Given the description of an element on the screen output the (x, y) to click on. 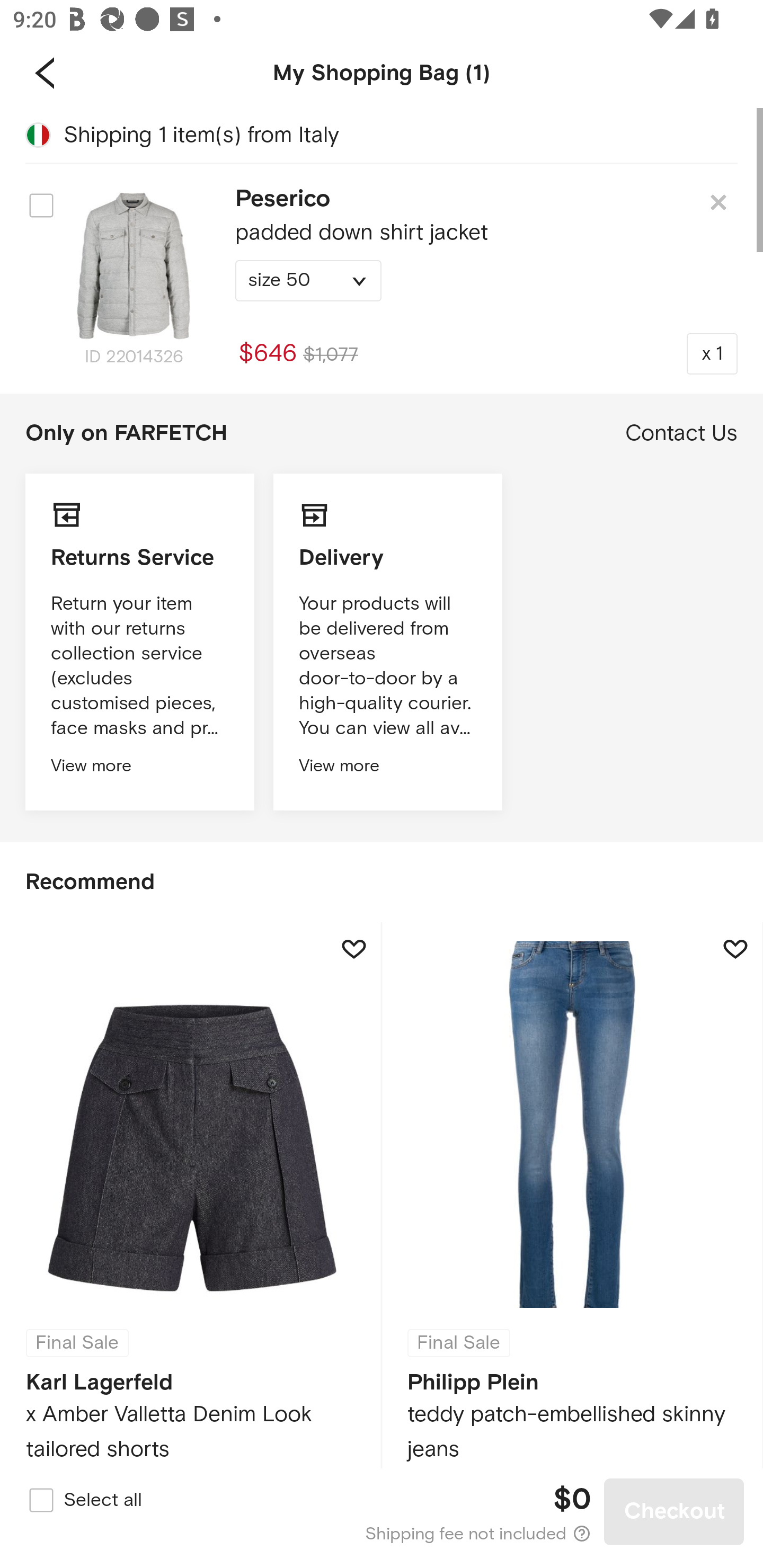
size 50 (308, 280)
x 1 (711, 353)
Contact Us (680, 433)
$0 Shipping fee not included (382, 1512)
Checkout (673, 1511)
